Given the description of an element on the screen output the (x, y) to click on. 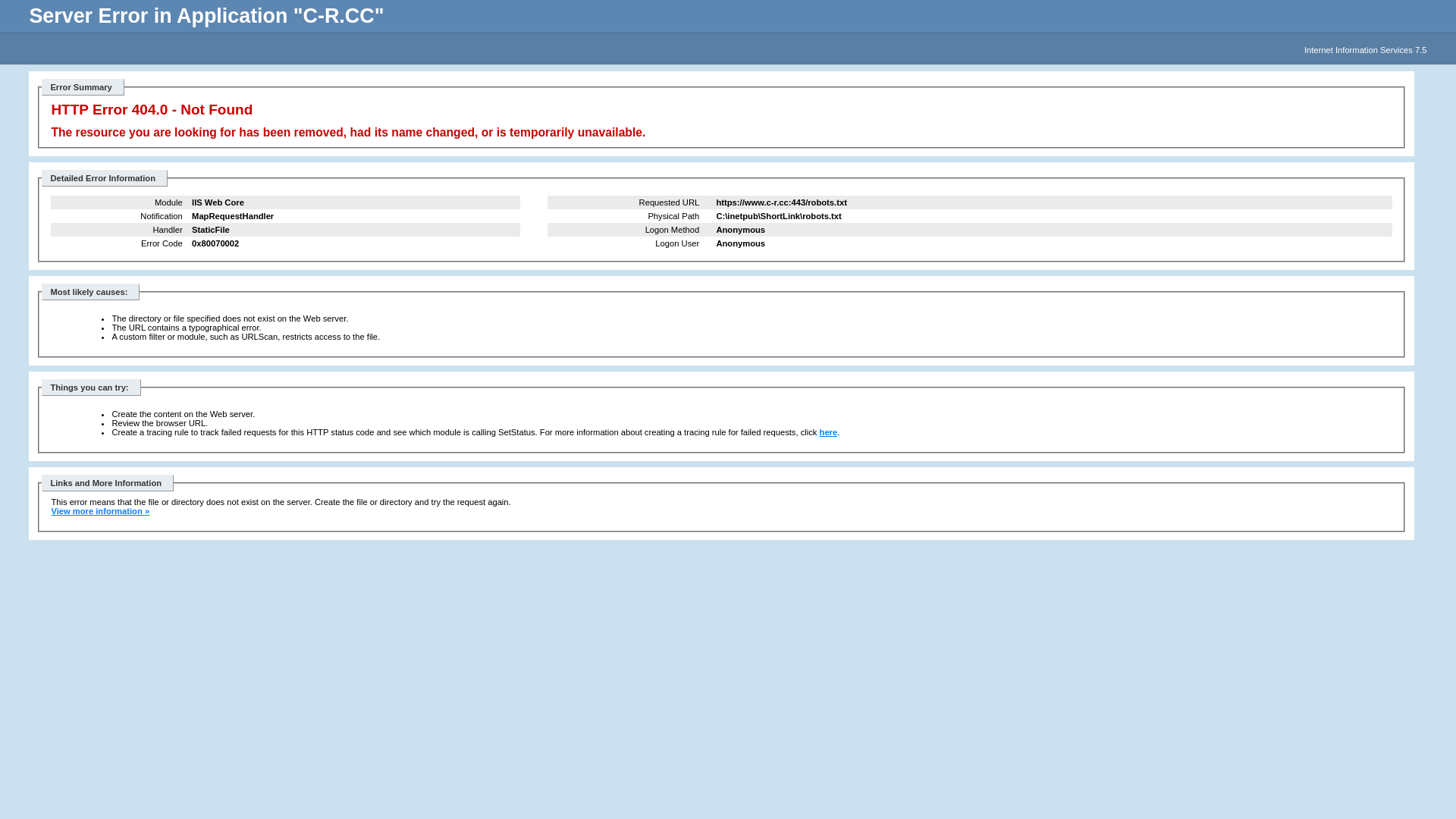
here Element type: text (828, 431)
